Given the description of an element on the screen output the (x, y) to click on. 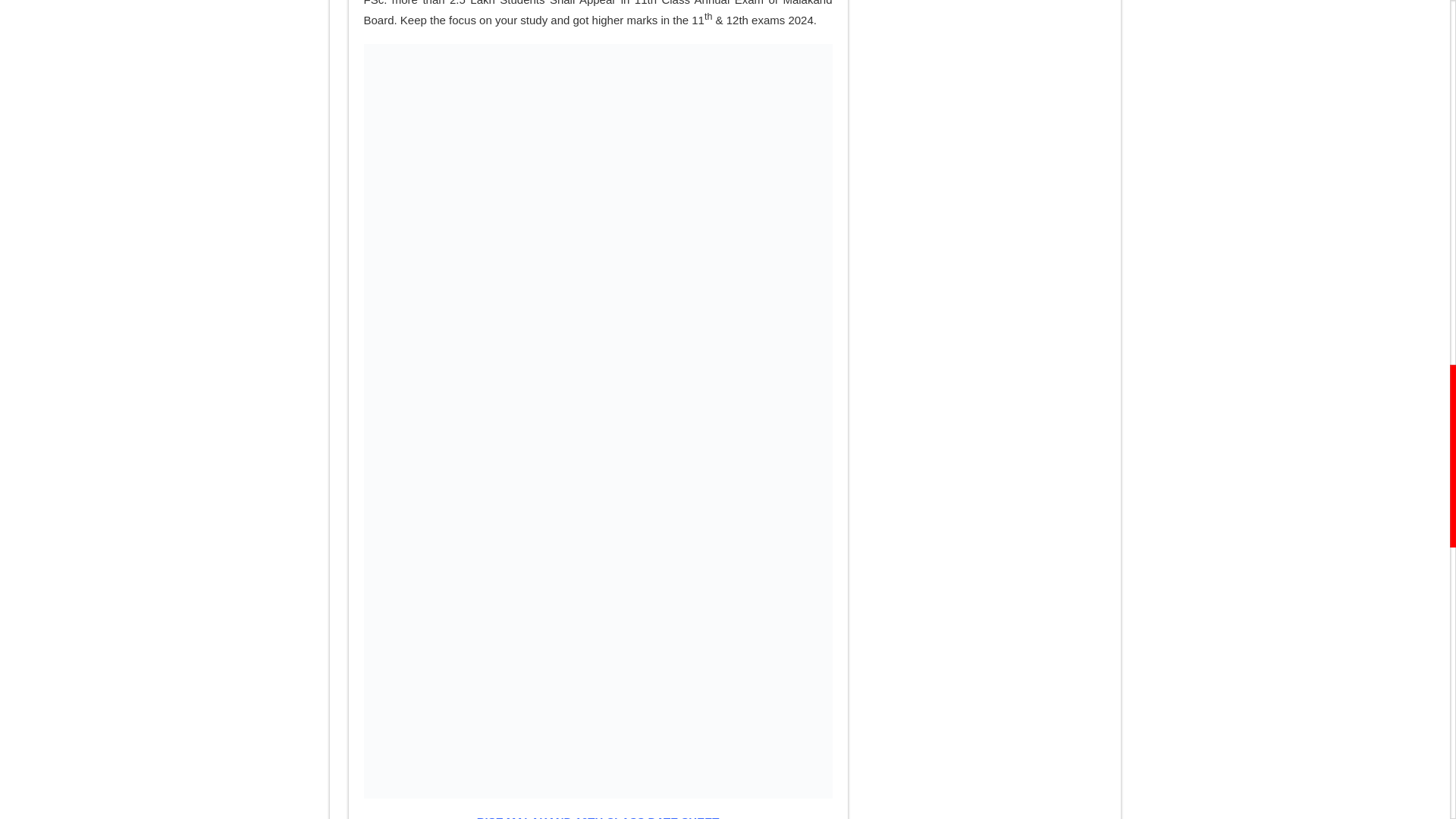
BISE MALAKAND 10TH CLASS DATE SHEET (598, 816)
